Given the description of an element on the screen output the (x, y) to click on. 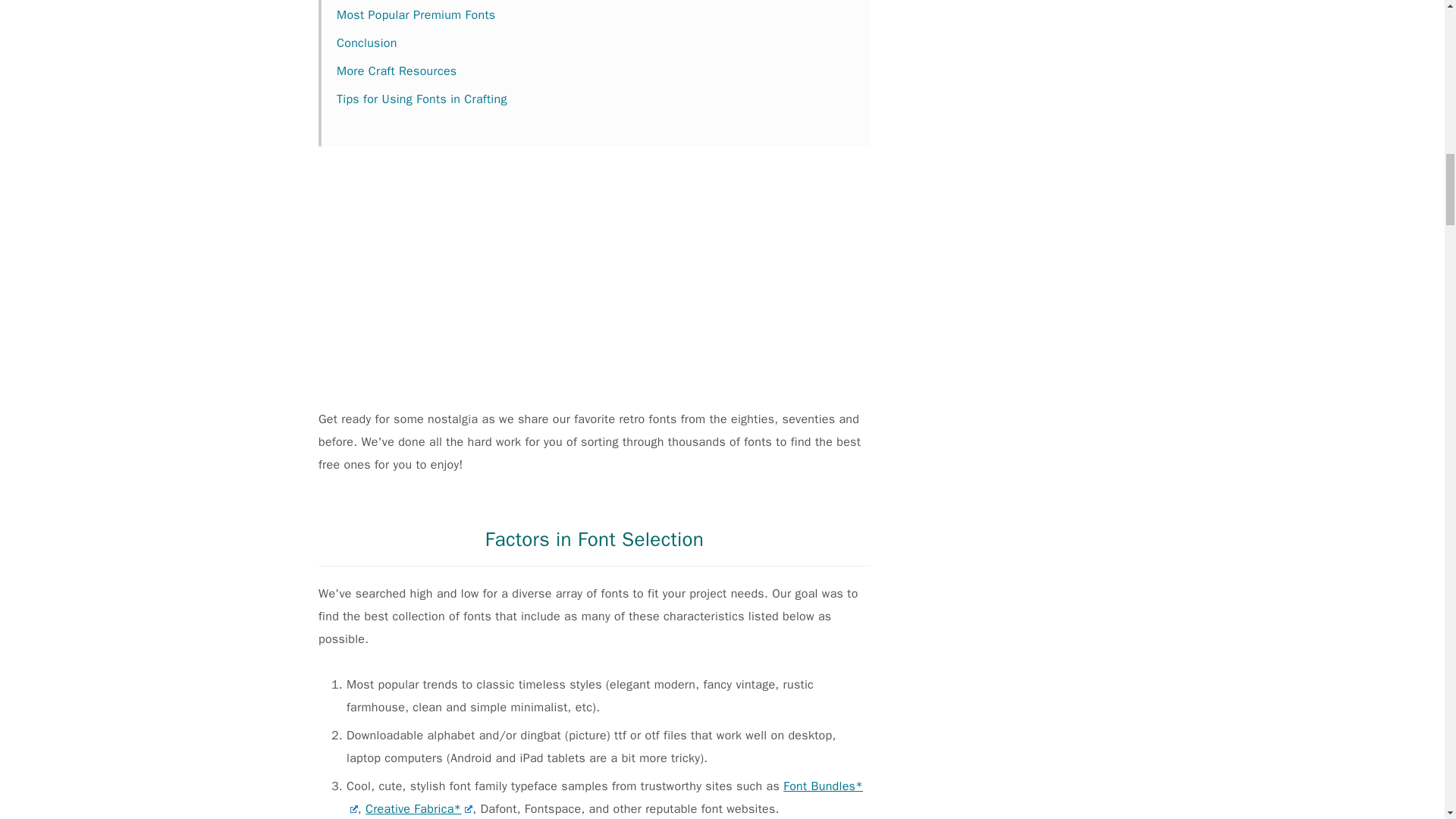
More Craft Resources (396, 70)
Most Popular Premium Fonts (415, 14)
Conclusion (366, 43)
Tips for Using Fonts in Crafting (421, 99)
